Given the description of an element on the screen output the (x, y) to click on. 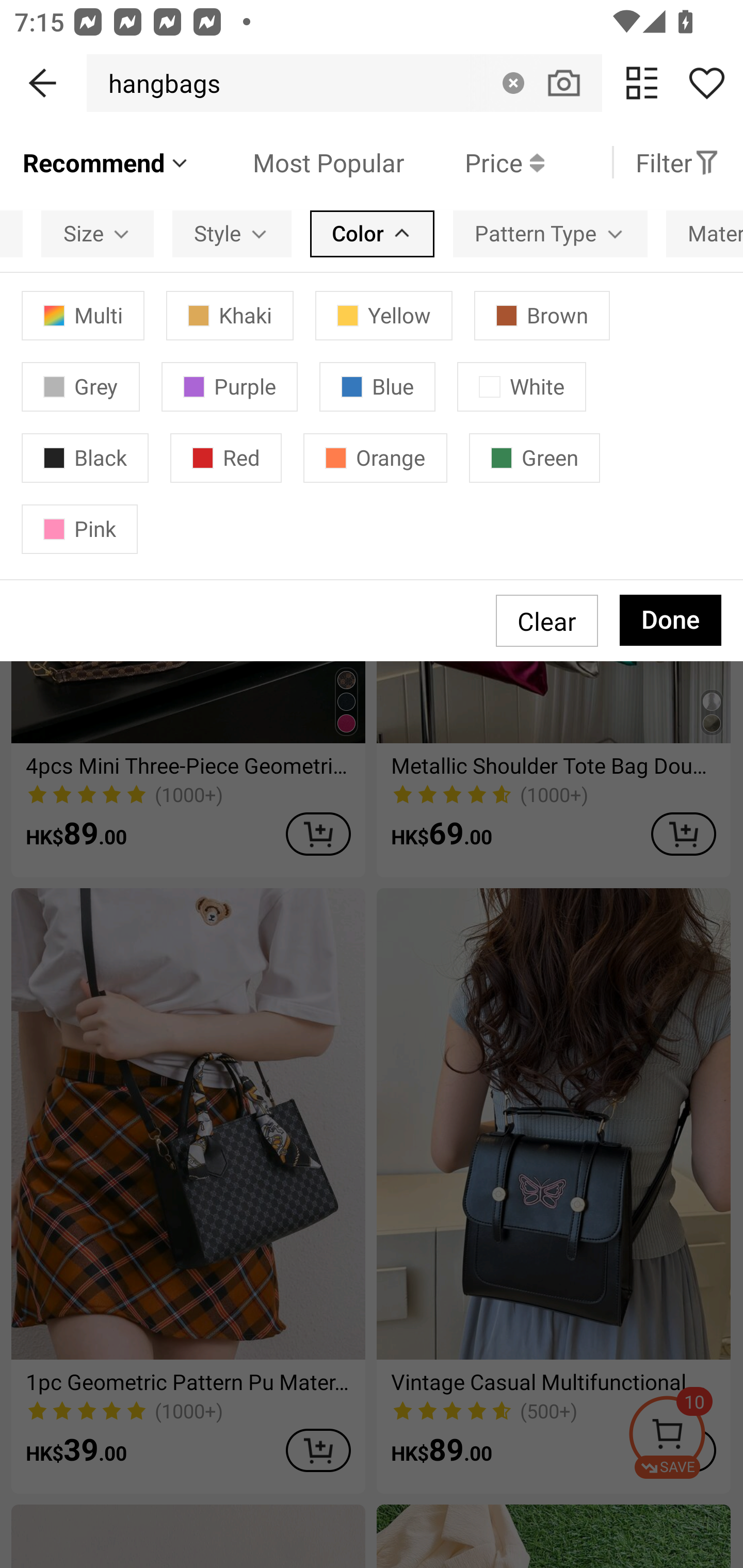
hangbags Clear (343, 82)
hangbags (158, 82)
Clear (513, 82)
change view (641, 82)
Share (706, 82)
Recommend (106, 162)
Most Popular (297, 162)
Price (474, 162)
Filter (677, 162)
Size (97, 233)
Style (231, 233)
Color (371, 233)
Pattern Type (550, 233)
Material (704, 233)
